Given the description of an element on the screen output the (x, y) to click on. 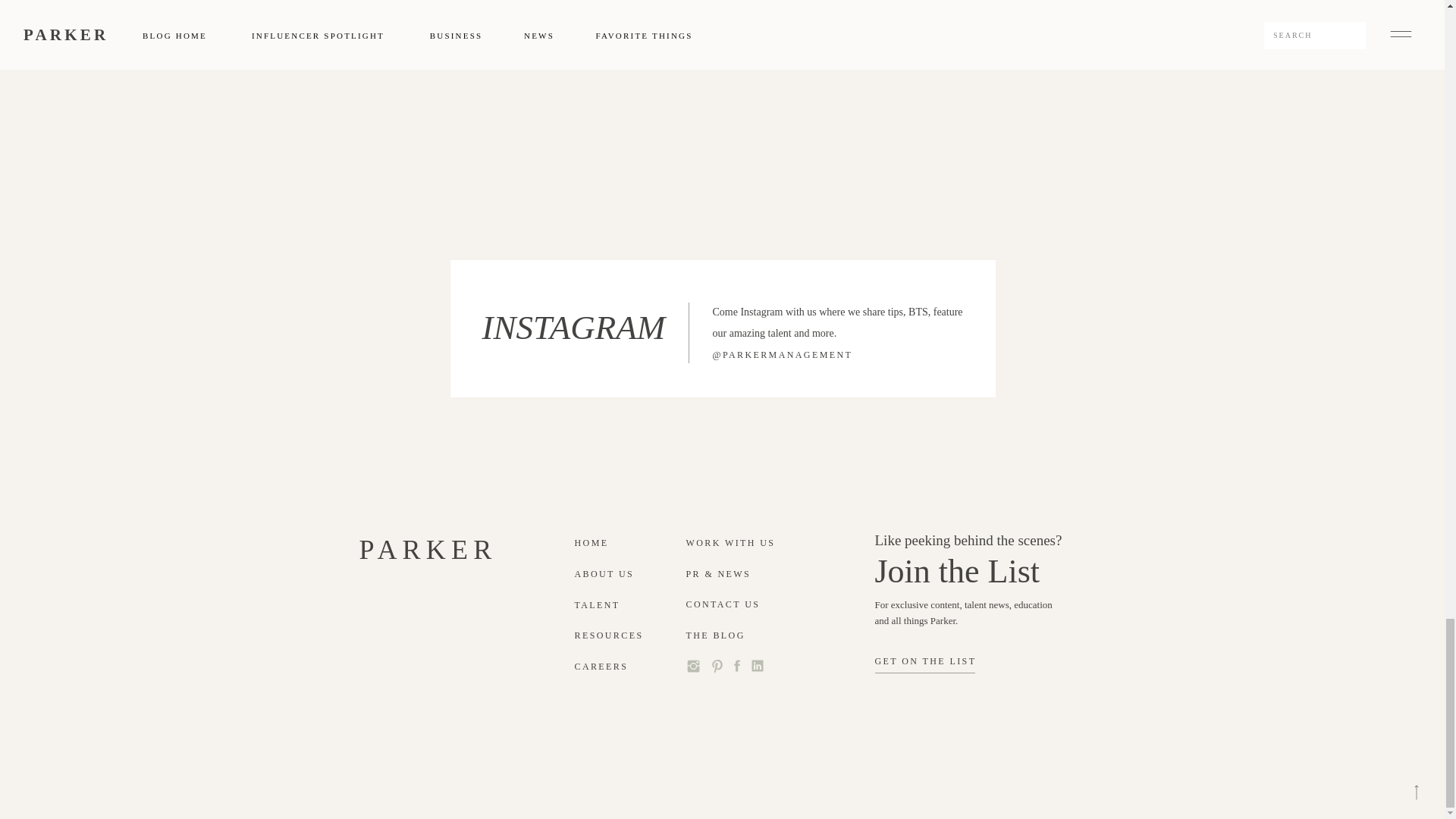
RESOURCES (613, 636)
HOME (596, 543)
THE BLOG (723, 636)
WORK WITH US (734, 543)
ABOUT US (608, 574)
CONTACT US (742, 605)
CAREERS (604, 667)
TALENT (609, 606)
